Given the description of an element on the screen output the (x, y) to click on. 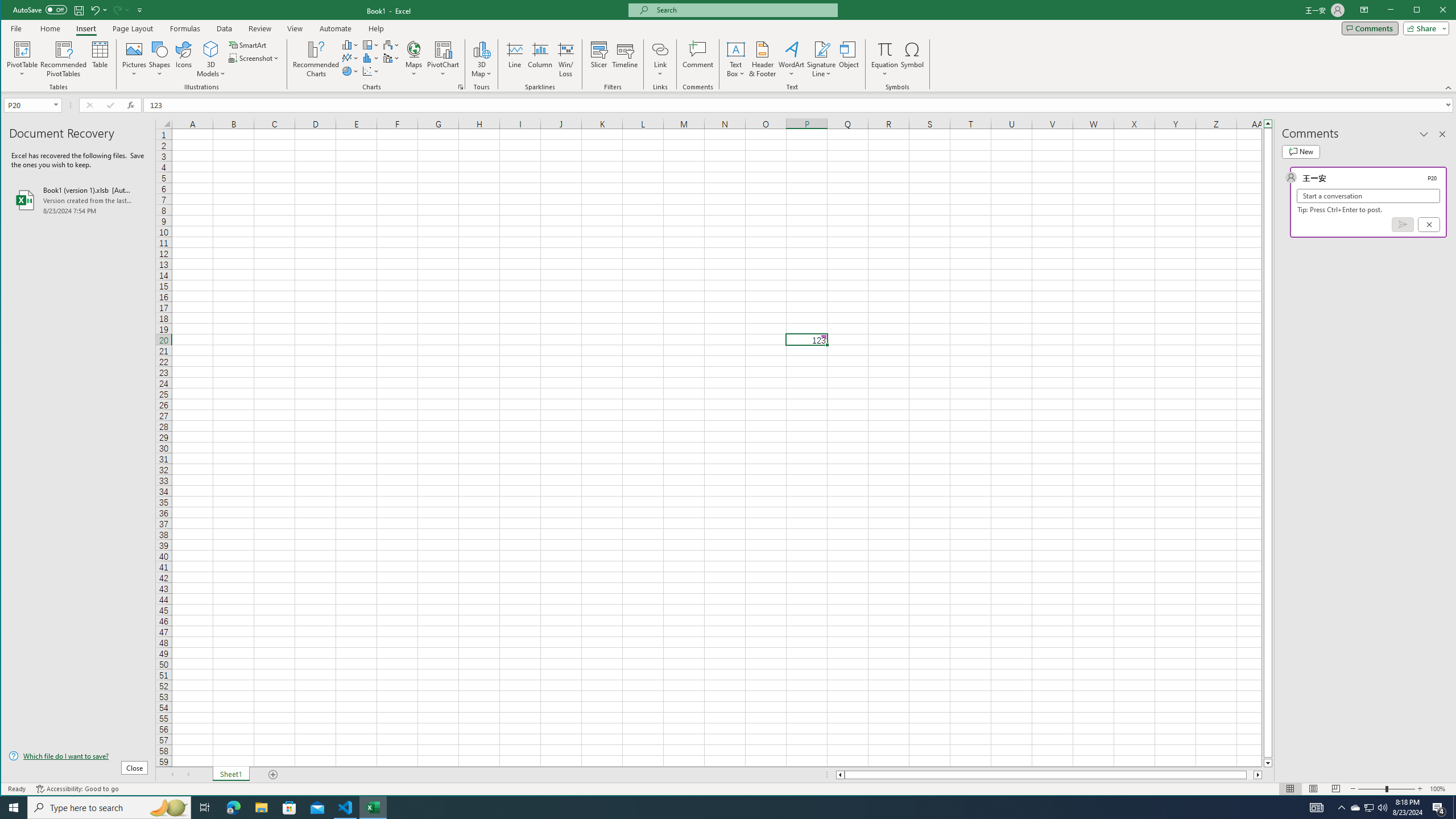
Cancel (1428, 224)
Icons (183, 59)
Automate (336, 28)
Microsoft Edge (233, 807)
Line (514, 59)
Maximize (1432, 11)
Recommended PivotTables (63, 59)
Slicer... (1368, 807)
